Given the description of an element on the screen output the (x, y) to click on. 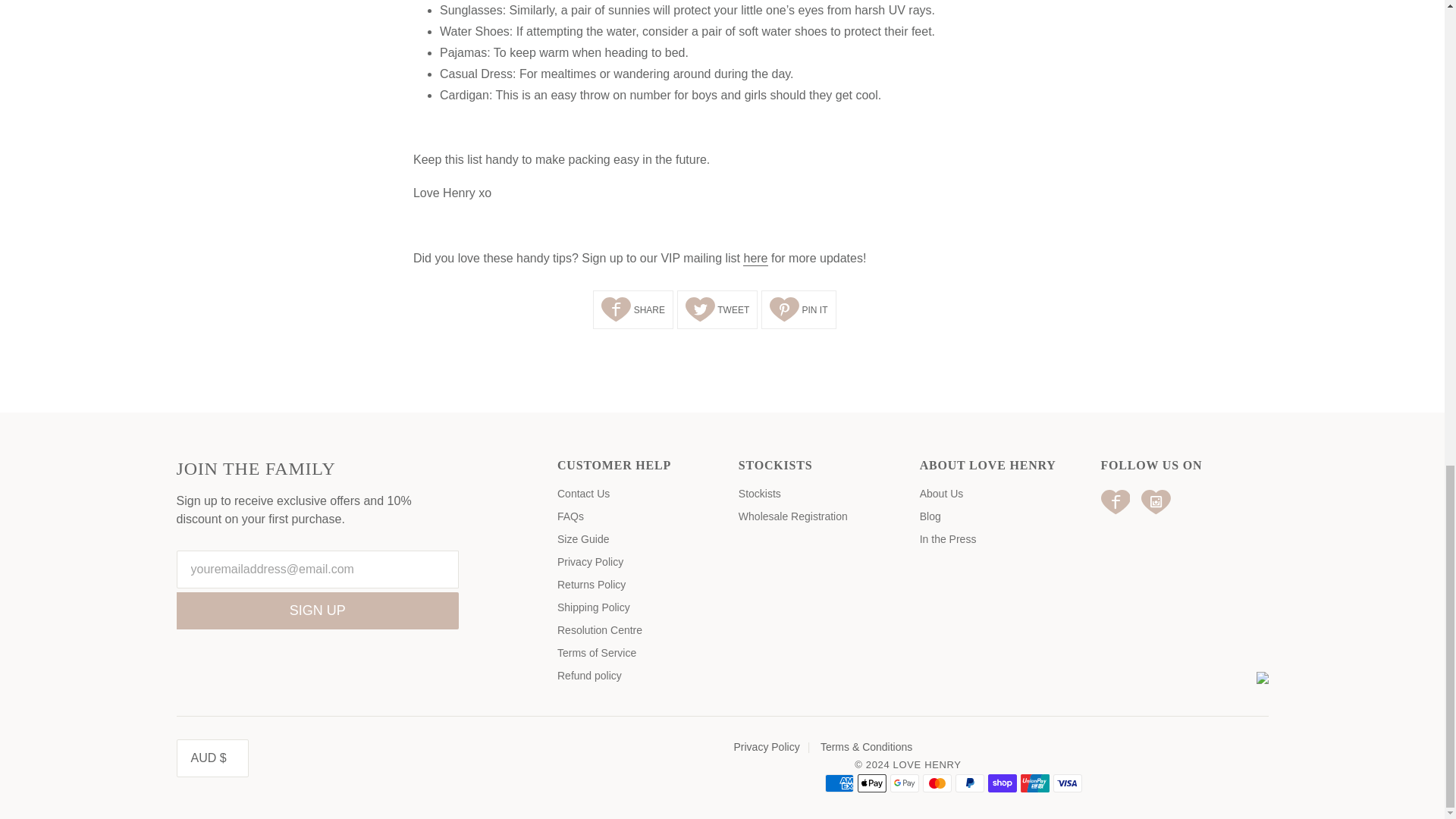
Love Henry homepage (754, 258)
